Given the description of an element on the screen output the (x, y) to click on. 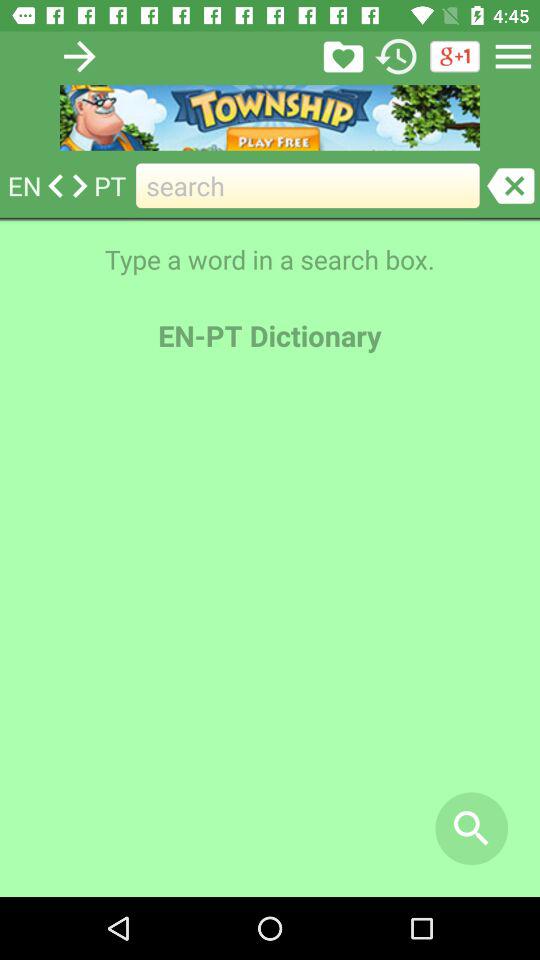
click the item below en-pt dictionary icon (270, 635)
